Given the description of an element on the screen output the (x, y) to click on. 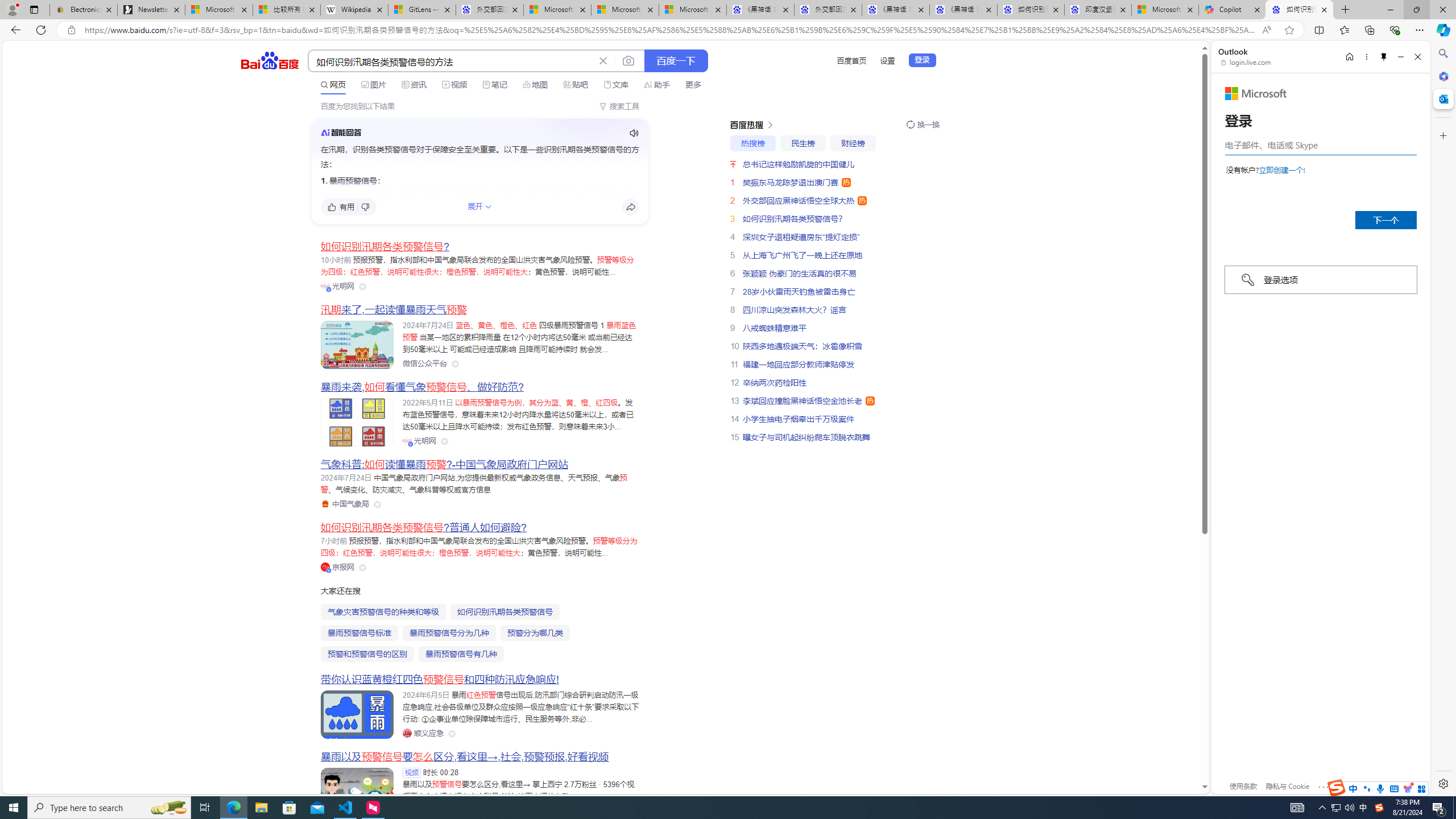
Copilot (1232, 9)
